Given the description of an element on the screen output the (x, y) to click on. 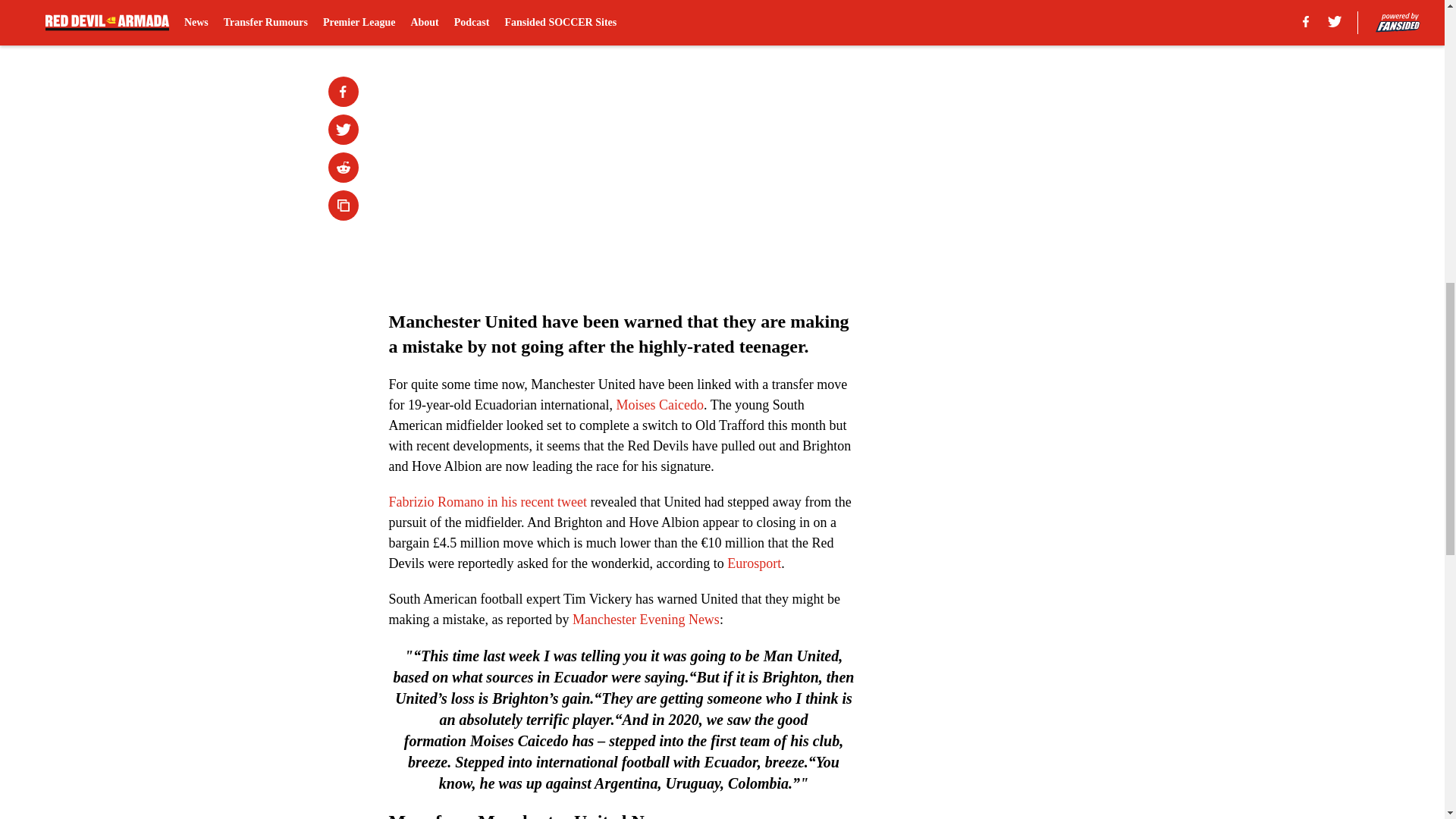
Manchester Evening News (645, 619)
Fabrizio Romano in his recent tweet (487, 501)
Moises Caicedo (659, 404)
Eurosport (753, 563)
